Given the description of an element on the screen output the (x, y) to click on. 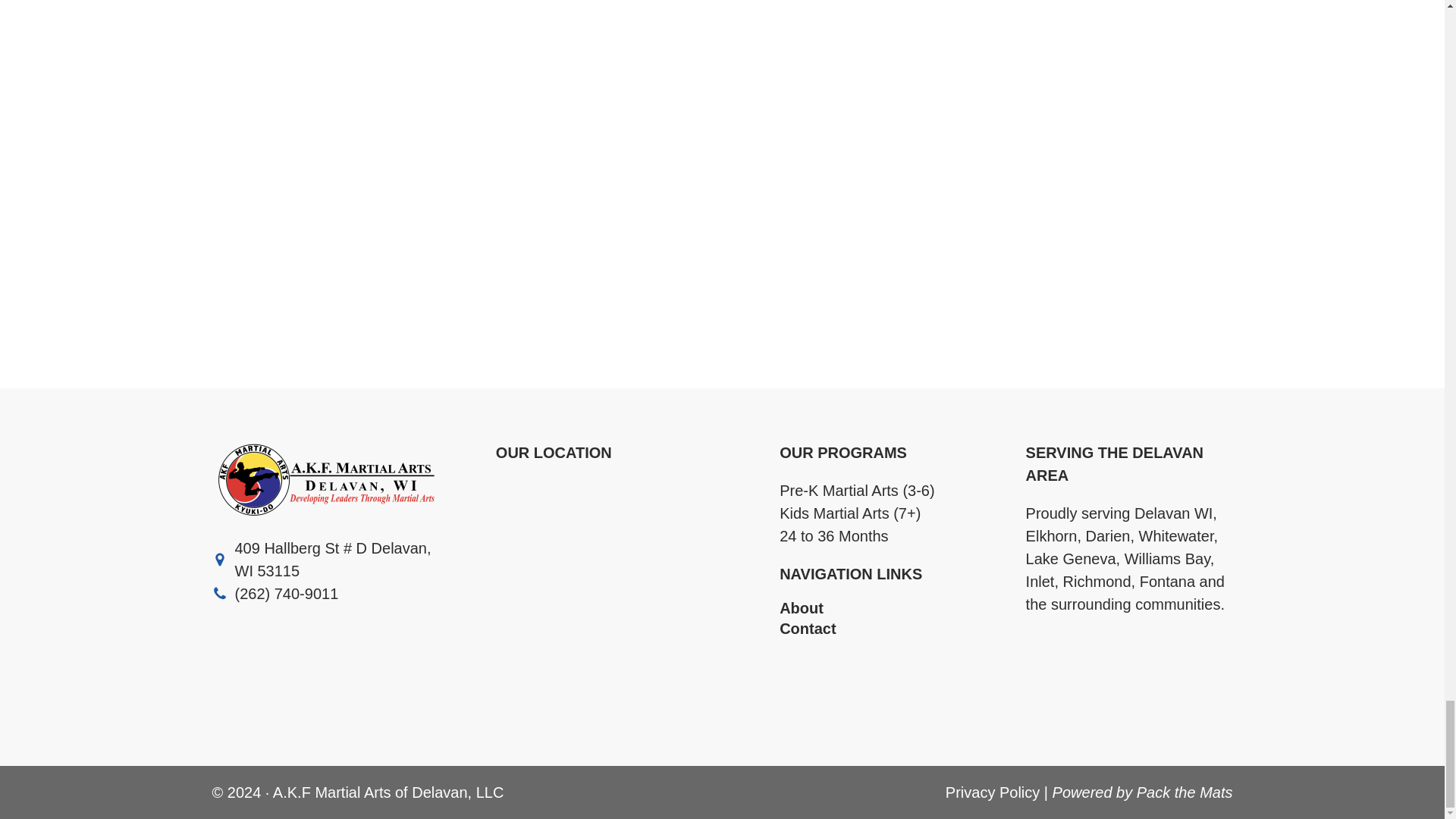
Privacy Policy (991, 791)
Kids Martial Arts (833, 513)
Contact (875, 628)
Powered by Pack the Mats (1142, 791)
About (875, 607)
24 to 36 Months (833, 535)
